Given the description of an element on the screen output the (x, y) to click on. 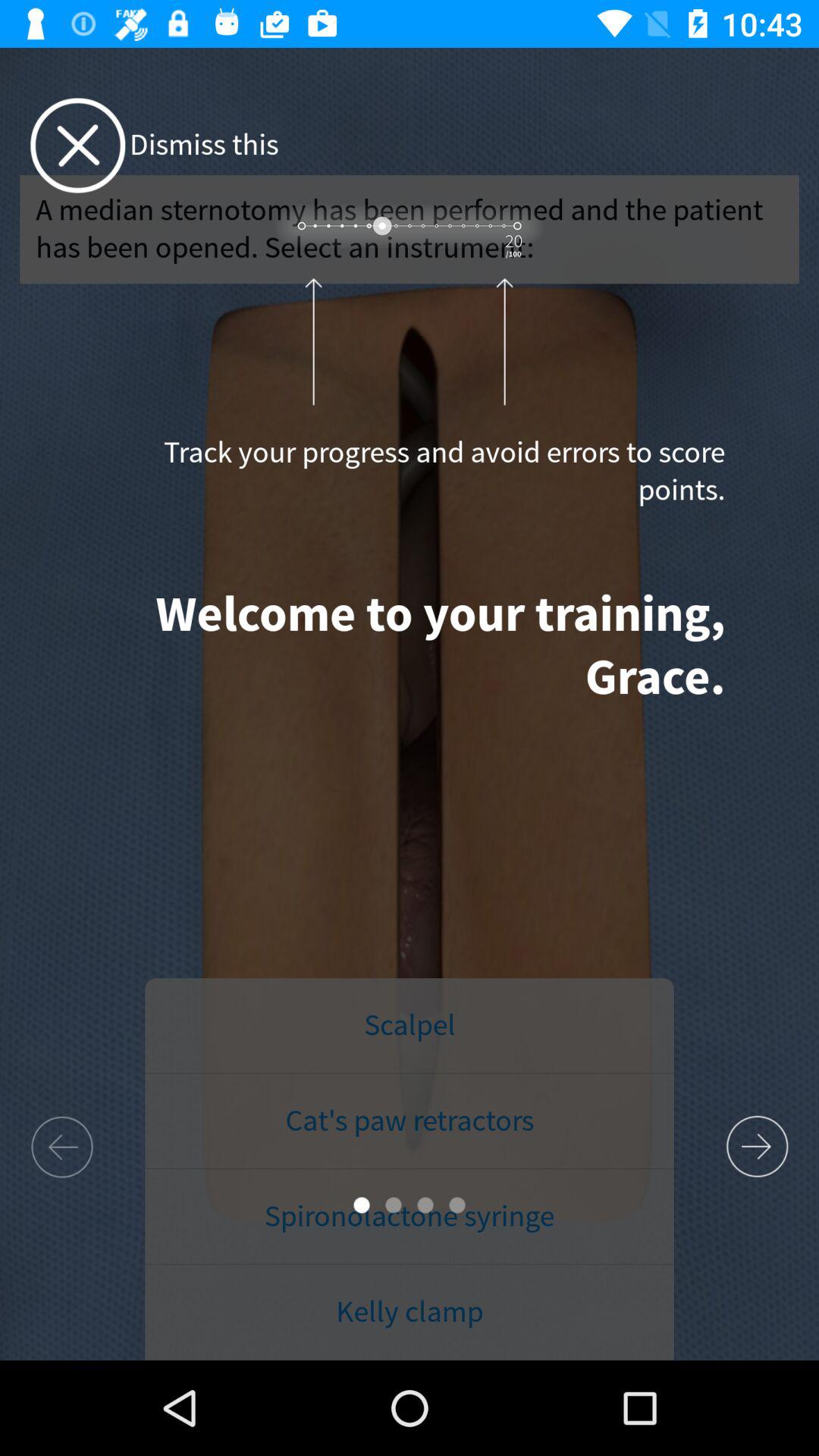
choose the spironolactone syringe (409, 1216)
